Given the description of an element on the screen output the (x, y) to click on. 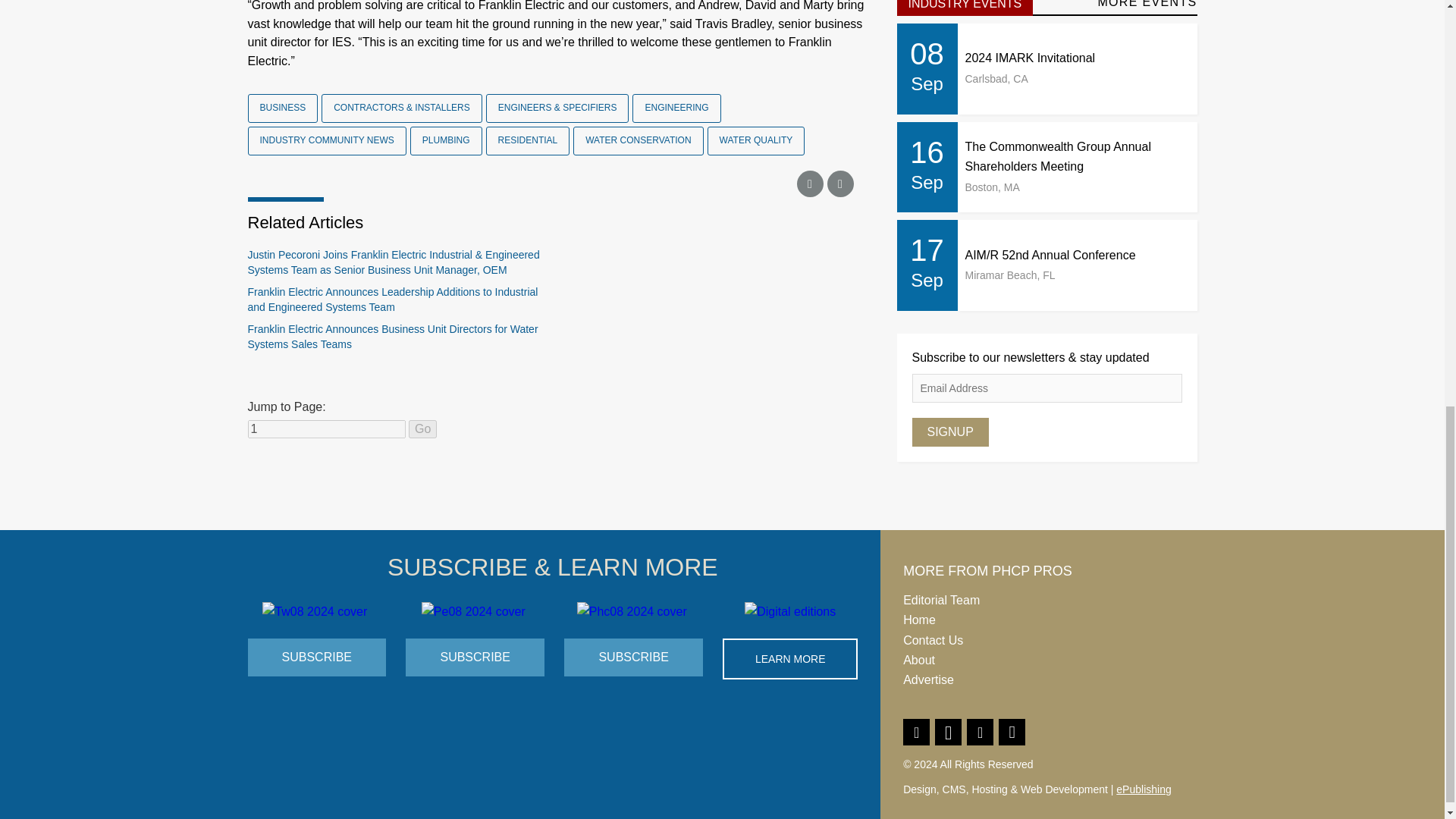
1 (325, 429)
SIGNUP (949, 431)
Go (422, 429)
